Given the description of an element on the screen output the (x, y) to click on. 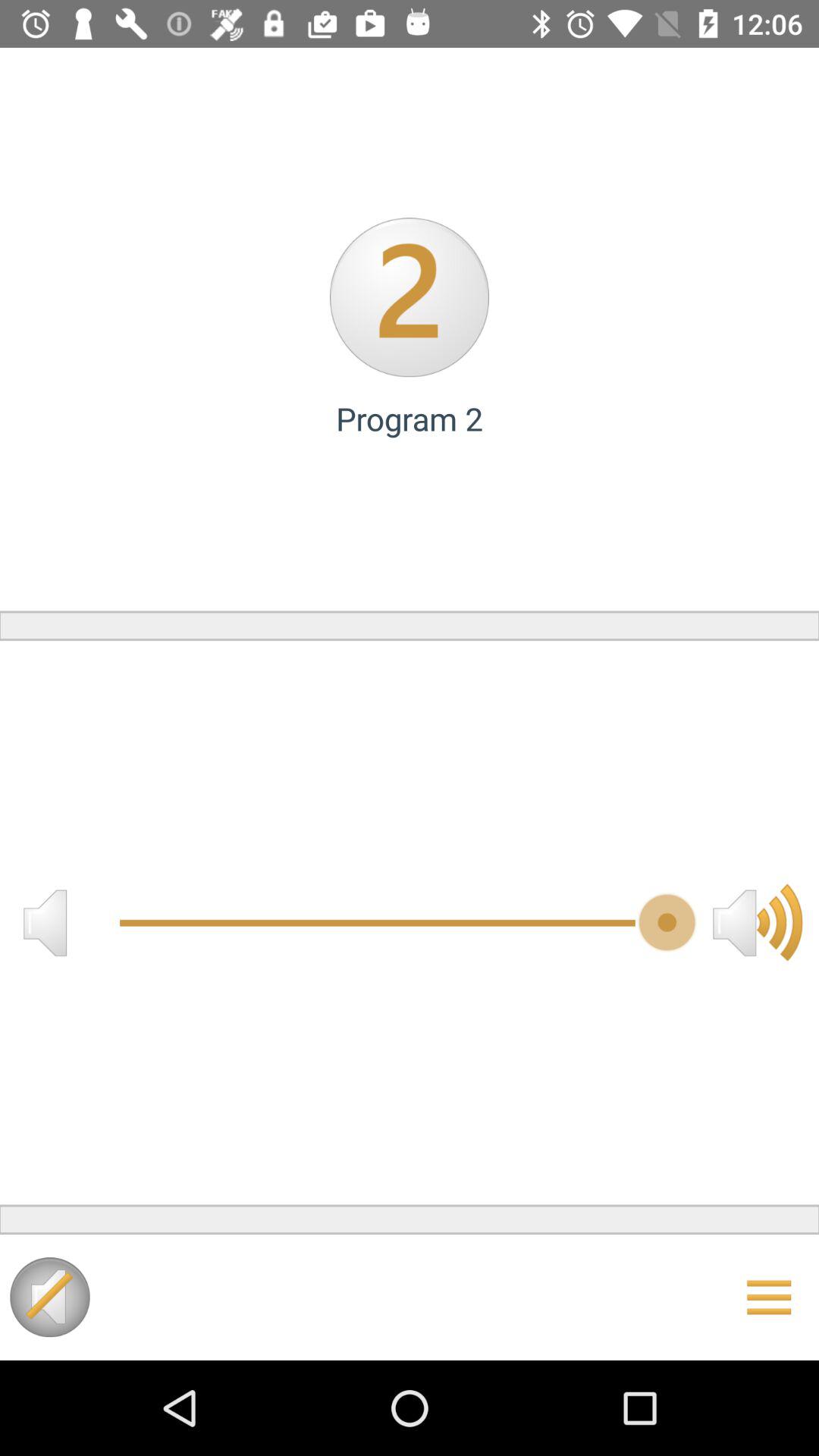
mute or sound off (44, 922)
